Given the description of an element on the screen output the (x, y) to click on. 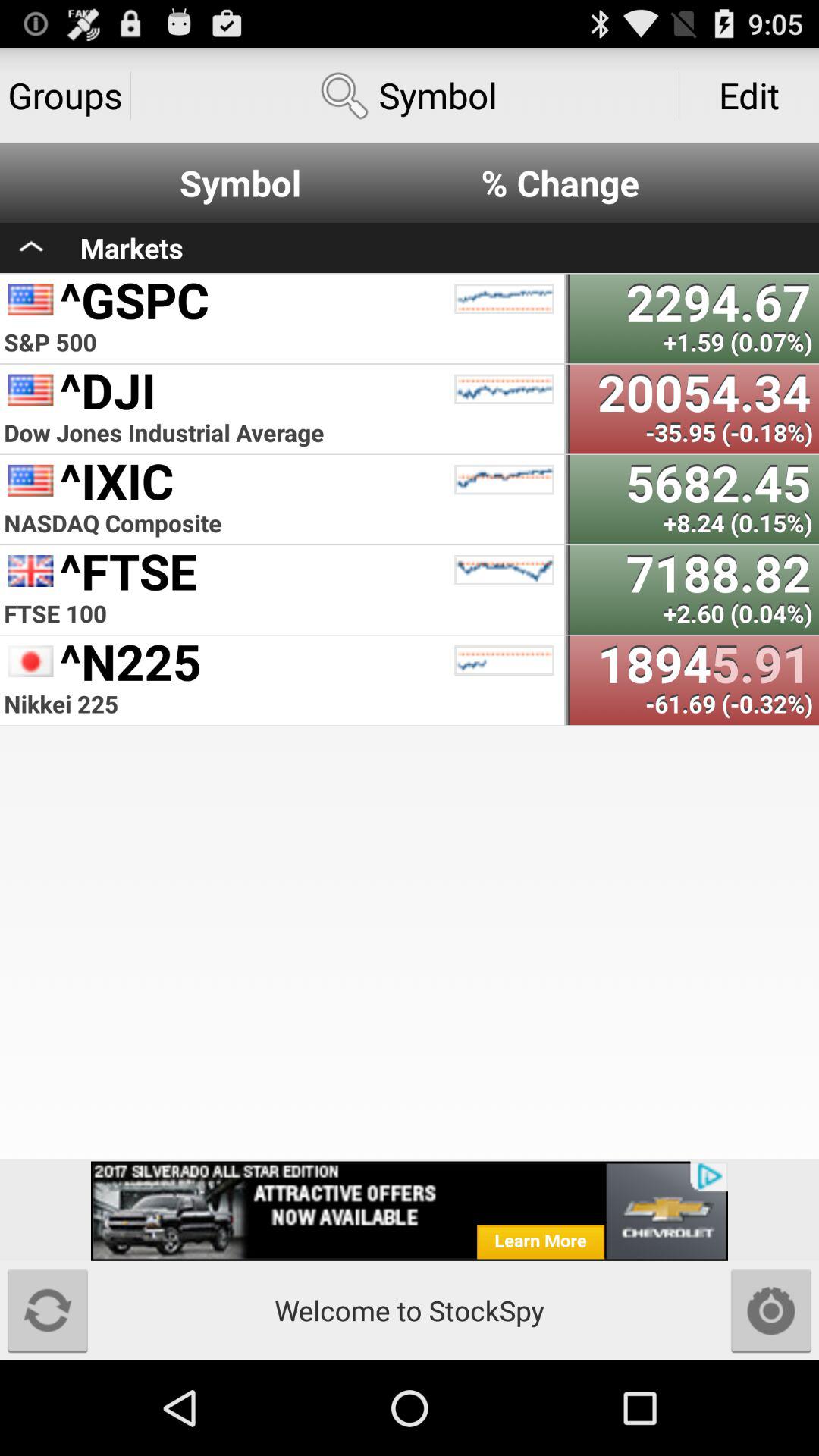
visit the advertisement site (409, 1210)
